Given the description of an element on the screen output the (x, y) to click on. 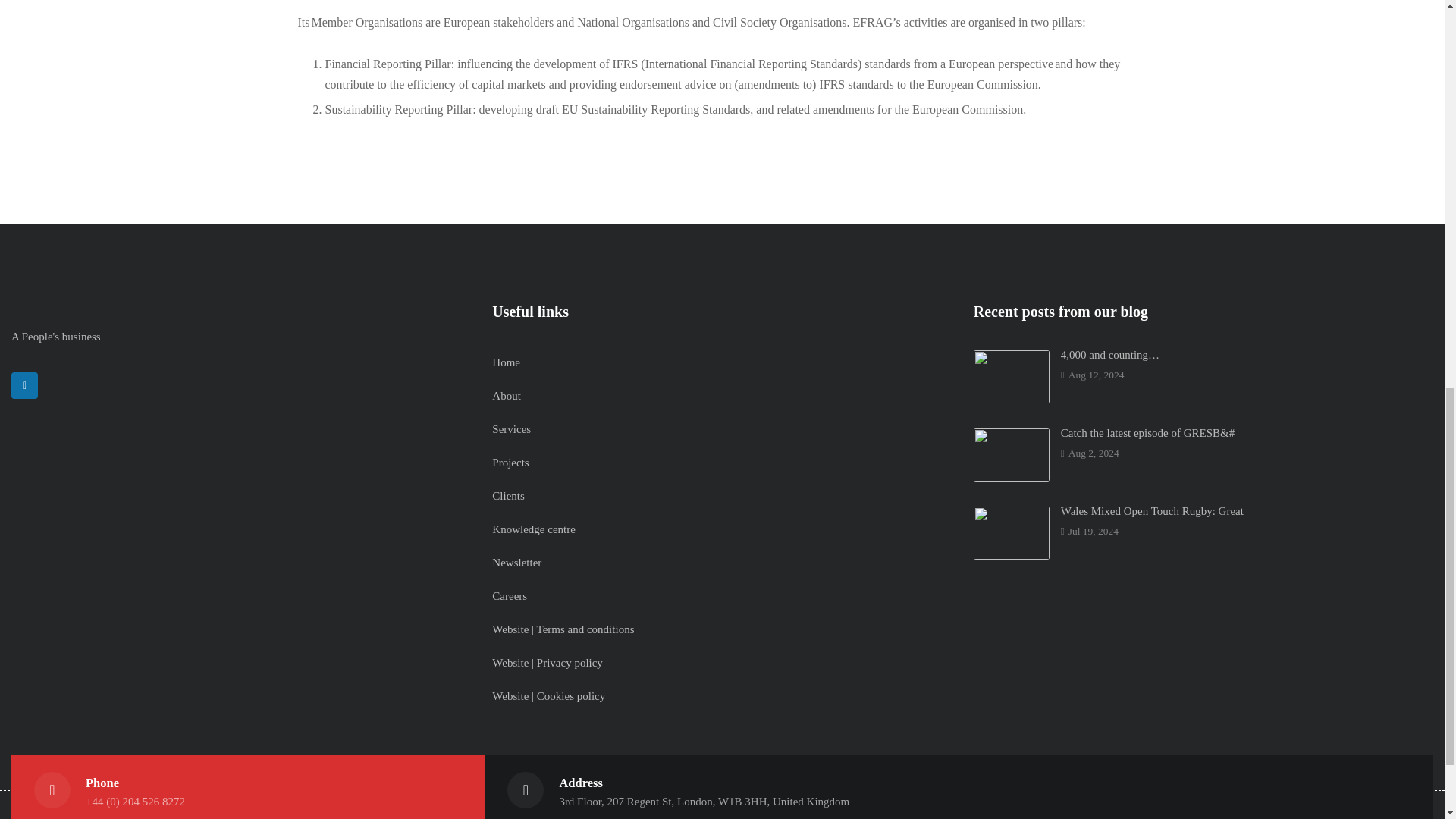
About (506, 395)
Clients (508, 495)
Services (511, 428)
Projects (510, 462)
Home (505, 362)
